Given the description of an element on the screen output the (x, y) to click on. 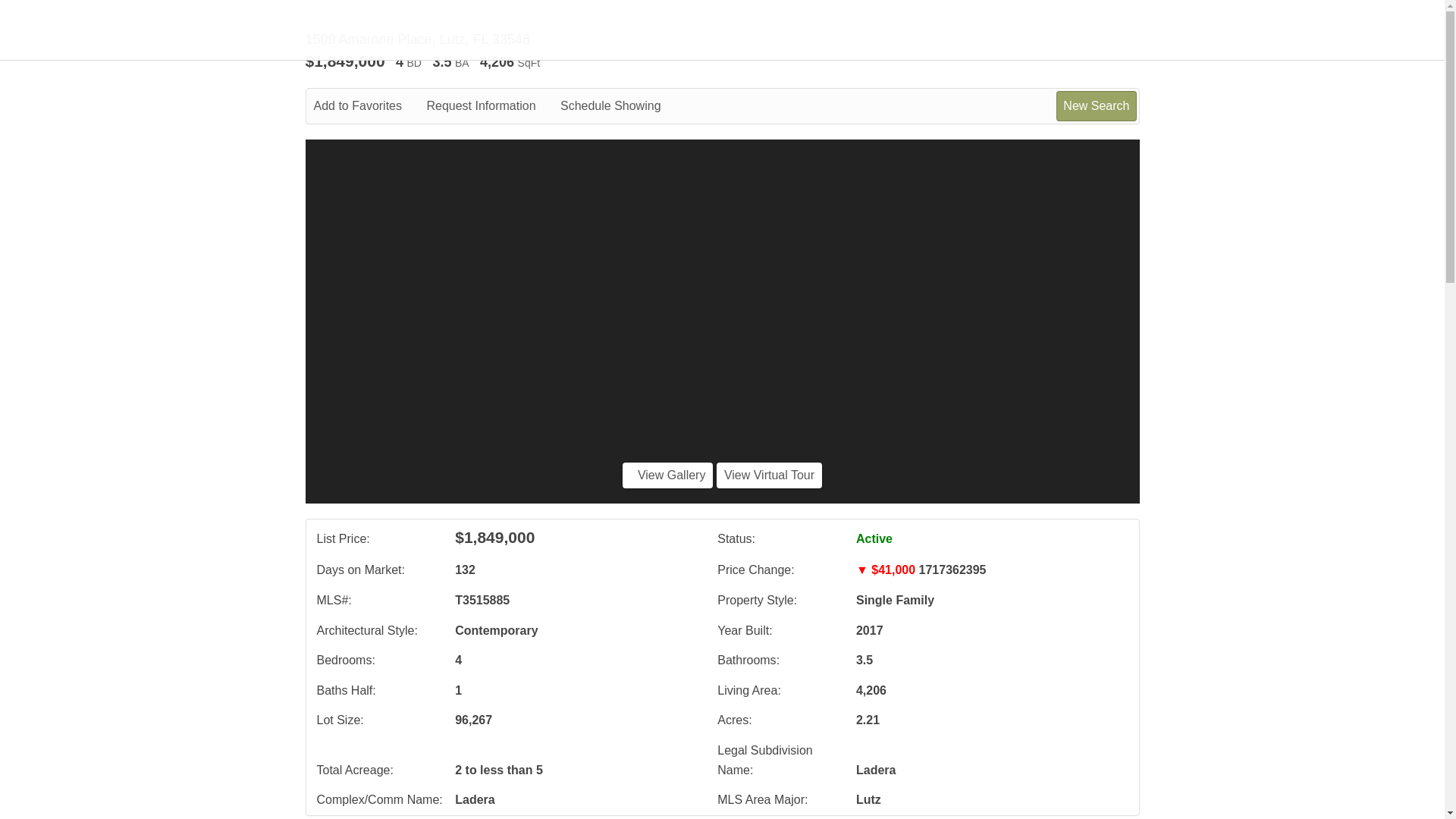
New Search (1096, 105)
Request Information (491, 106)
View Gallery (668, 475)
Schedule Showing (621, 106)
Add to Favorites (368, 106)
View Gallery (668, 474)
View Virtual Tour (769, 475)
View Virtual Tour (769, 474)
